Given the description of an element on the screen output the (x, y) to click on. 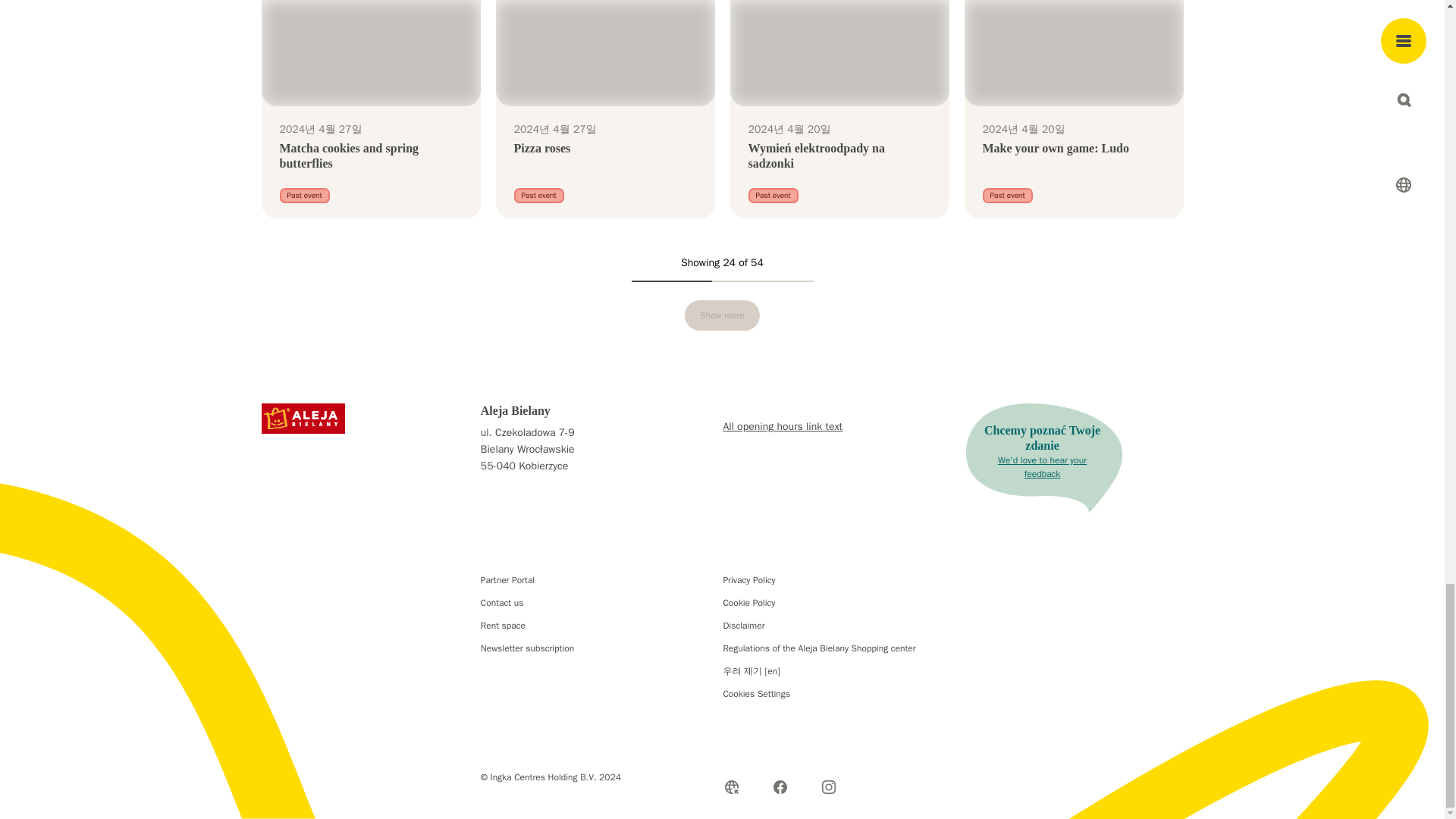
Website (731, 786)
Facebook (779, 786)
Instagram (828, 786)
